Given the description of an element on the screen output the (x, y) to click on. 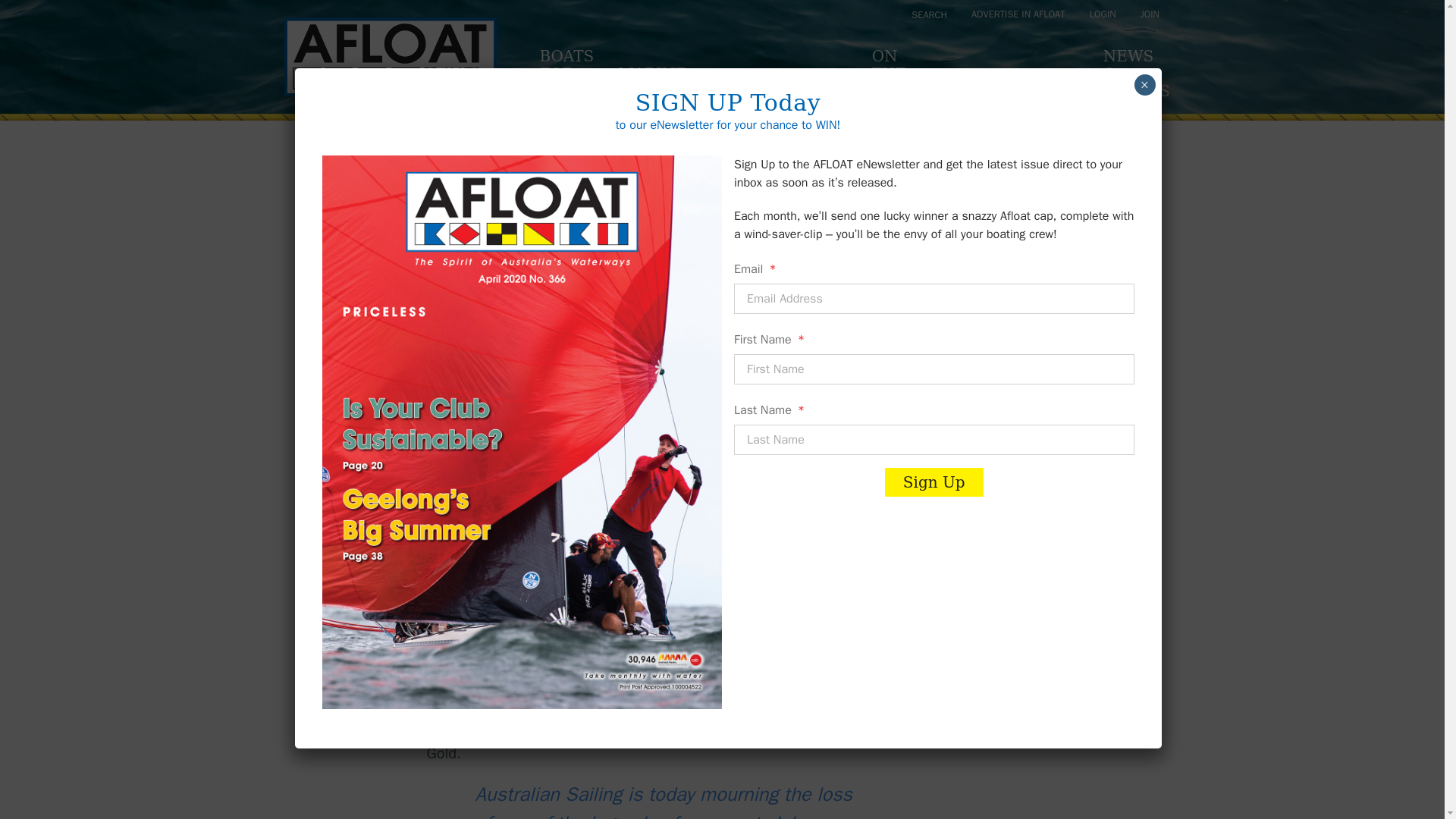
DESTINATIONS (1015, 91)
ADVERTISE IN AFLOAT (1018, 14)
CLASSIFIEDS (566, 74)
JOIN (792, 91)
SEARCH (665, 83)
Sign Up (1150, 14)
LOGIN (901, 74)
